Given the description of an element on the screen output the (x, y) to click on. 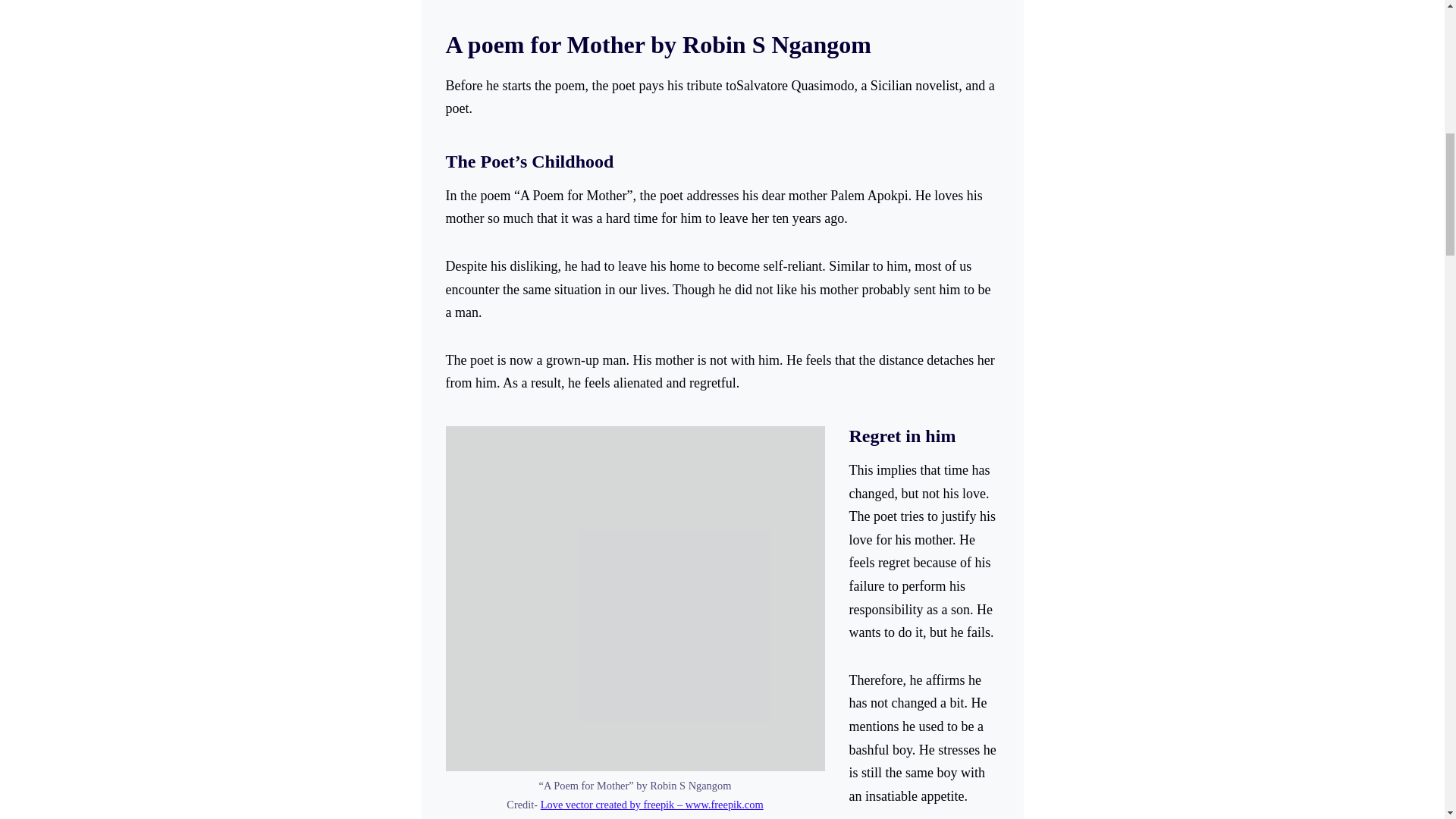
A Poem for Mother by Robin S Ngangom 1 (635, 598)
